Given the description of an element on the screen output the (x, y) to click on. 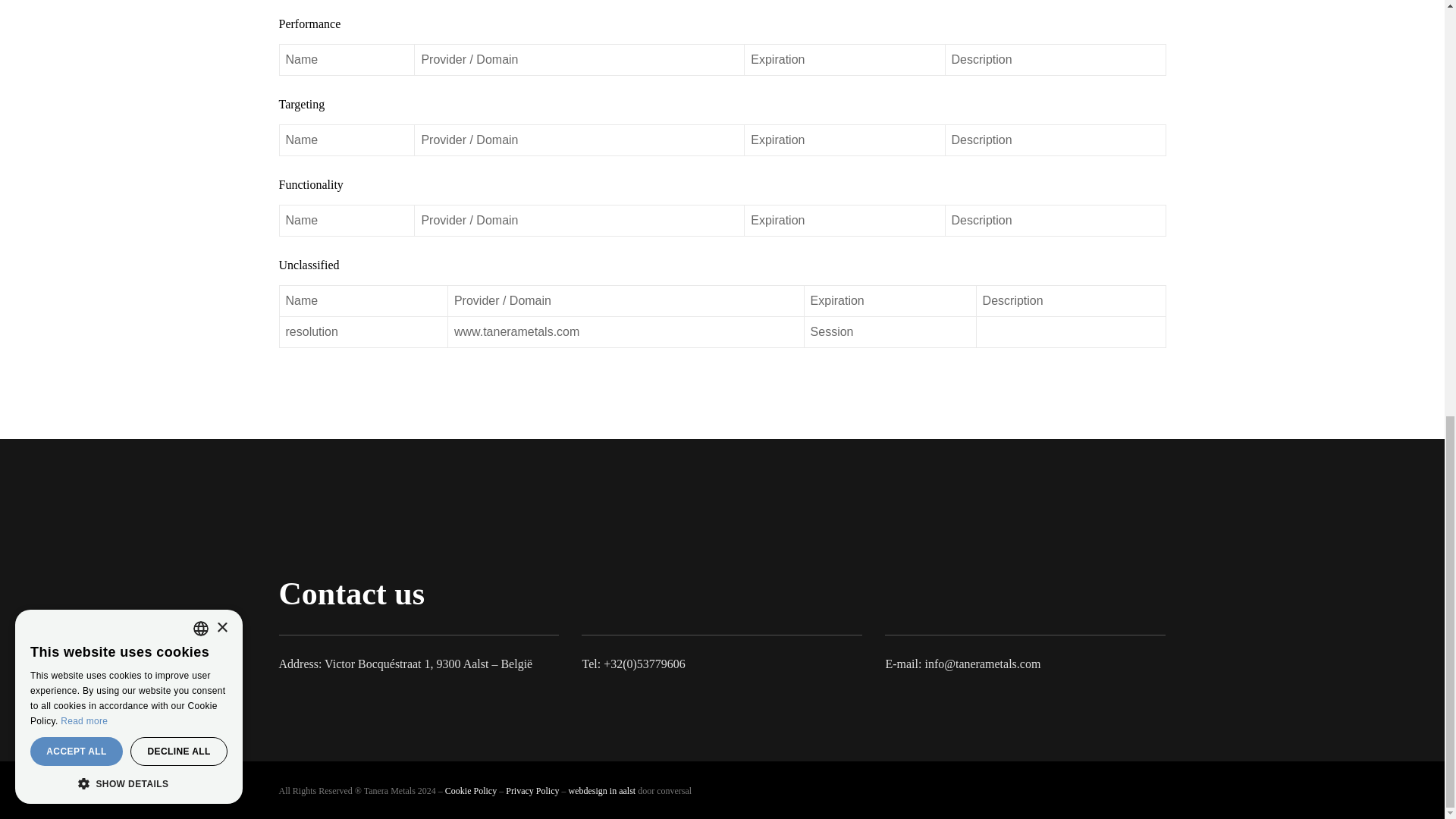
webdesign in aalst (602, 790)
Privacy Policy (532, 790)
Cookie Policy (470, 790)
